Given the description of an element on the screen output the (x, y) to click on. 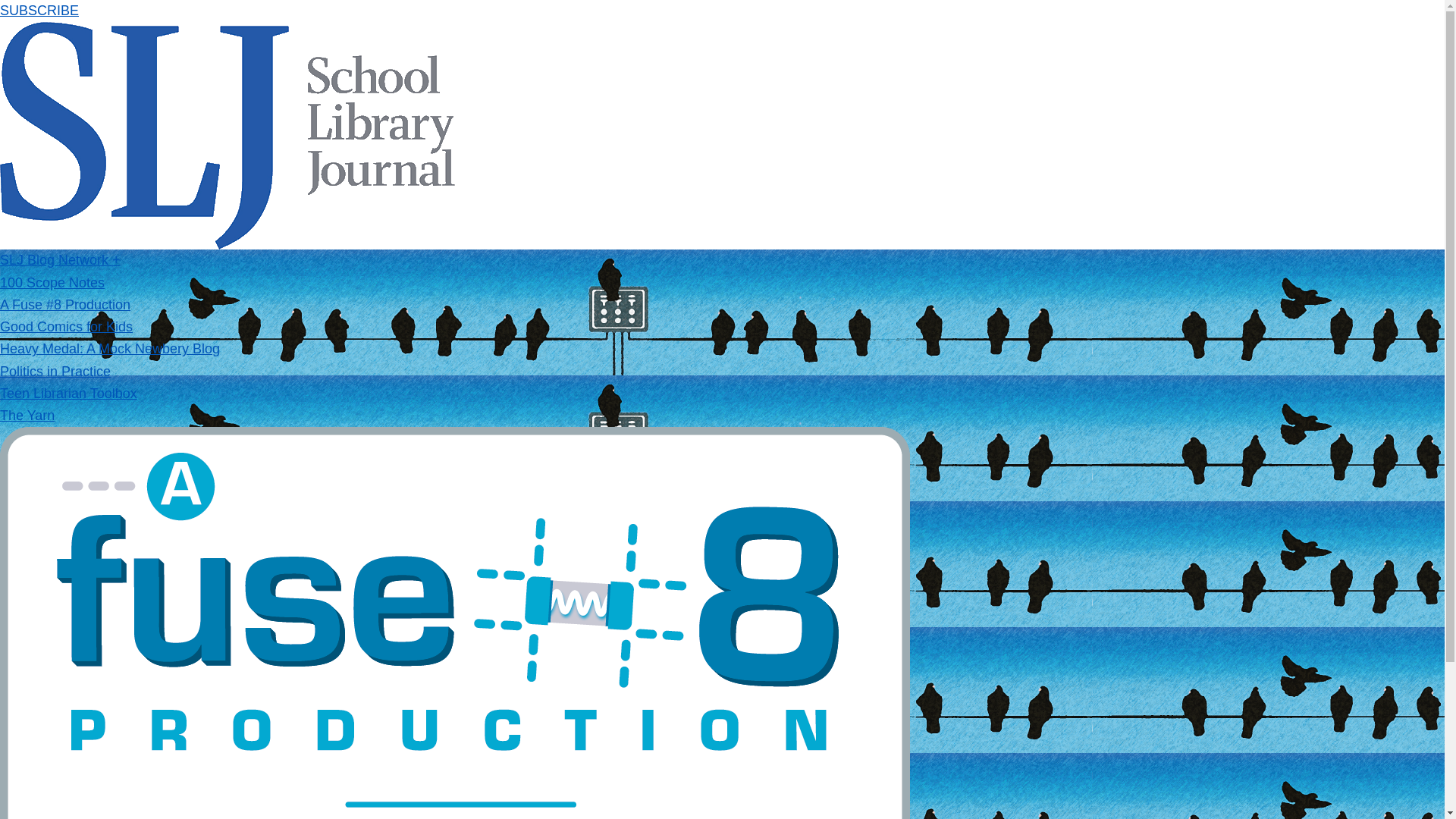
Good Comics for Kids (66, 326)
The Yarn (27, 415)
Teen Librarian Toolbox (68, 393)
Politics in Practice (55, 371)
SUBSCRIBE (39, 10)
Heavy Medal: A Mock Newbery Blog (109, 348)
100 Scope Notes (52, 281)
